Given the description of an element on the screen output the (x, y) to click on. 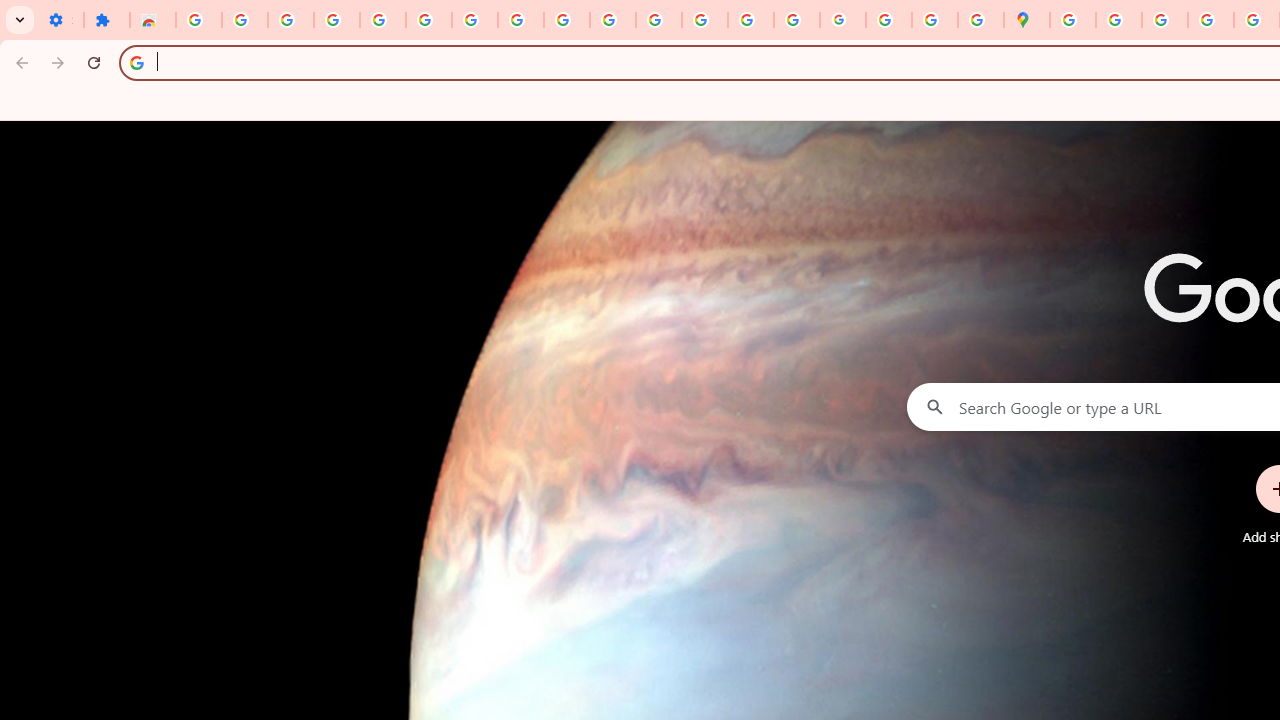
Delete photos & videos - Computer - Google Photos Help (290, 20)
